Given the description of an element on the screen output the (x, y) to click on. 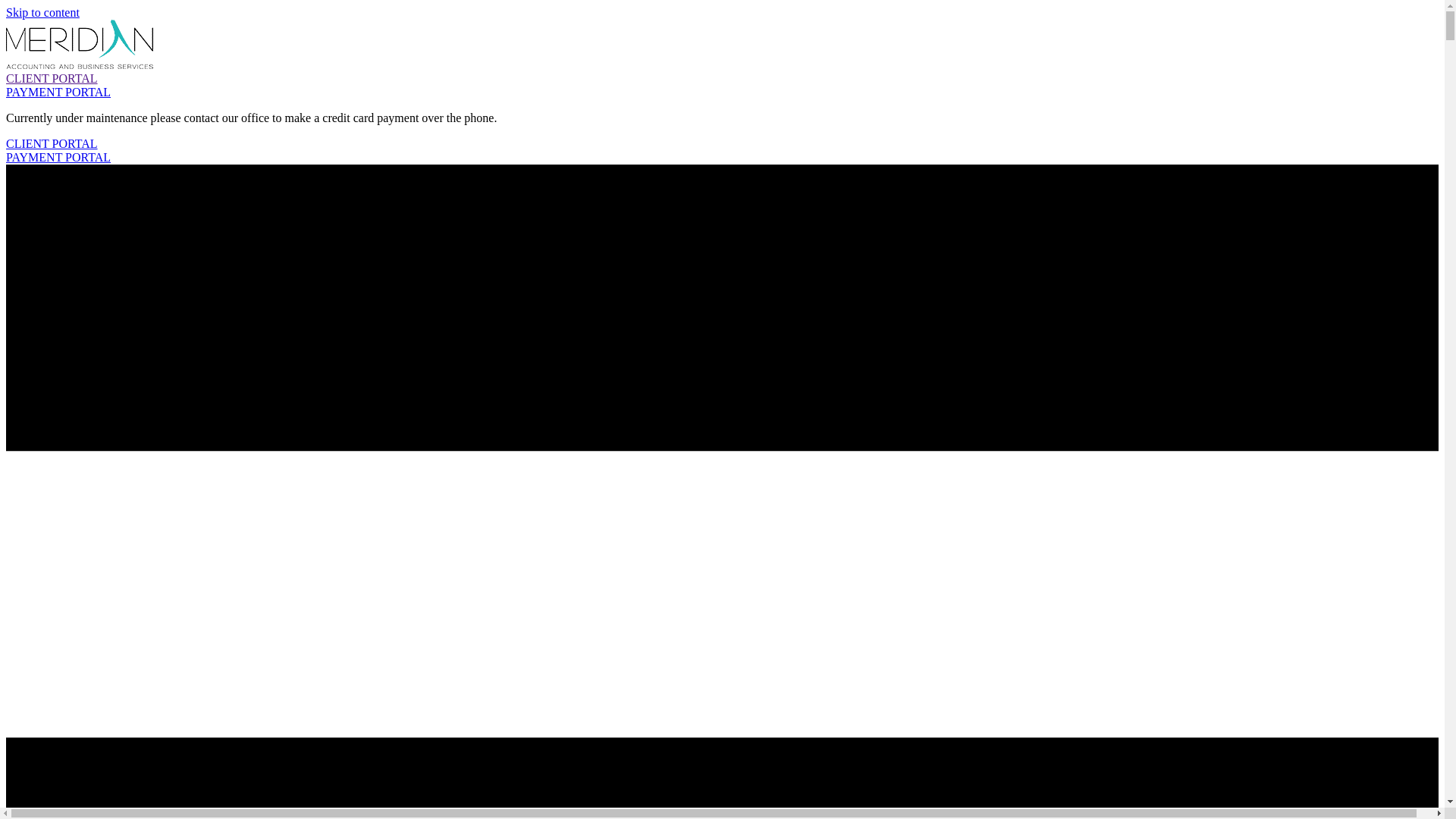
PAYMENT PORTAL Element type: text (58, 156)
logo Element type: hover (79, 44)
PAYMENT PORTAL Element type: text (58, 91)
Skip to content Element type: text (42, 12)
CLIENT PORTAL Element type: text (51, 78)
CLIENT PORTAL Element type: text (51, 143)
